Given the description of an element on the screen output the (x, y) to click on. 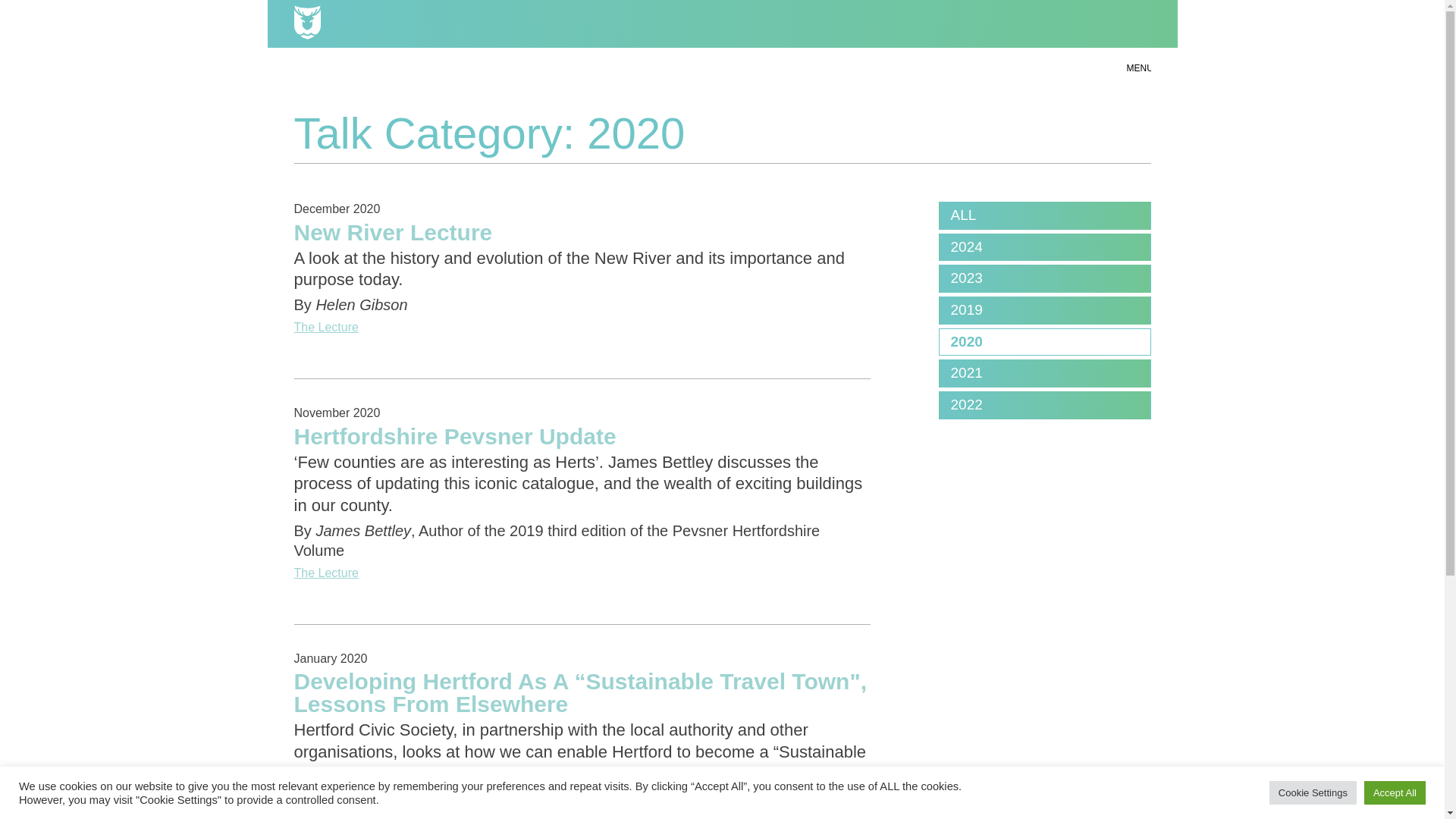
Hertford Civic Society (722, 24)
The Lecture (582, 327)
ALL (1044, 215)
Cookie Settings (1312, 792)
Accept All (1394, 792)
The Lecture (582, 815)
2021 (1044, 373)
2019 (1044, 310)
2023 (1044, 278)
2020 (1044, 342)
